Given the description of an element on the screen output the (x, y) to click on. 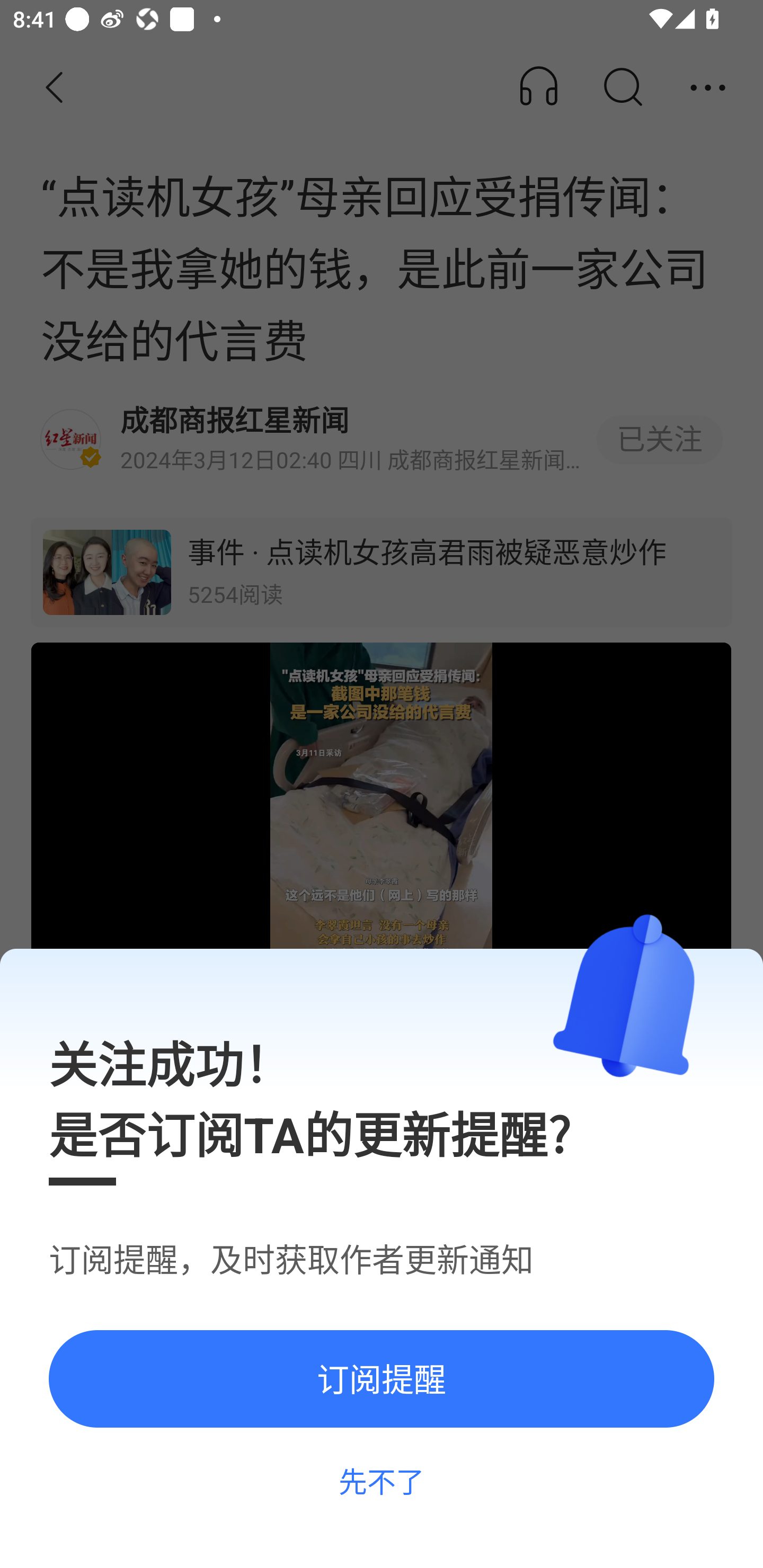
订阅提醒 (381, 1377)
先不了 (381, 1480)
